Given the description of an element on the screen output the (x, y) to click on. 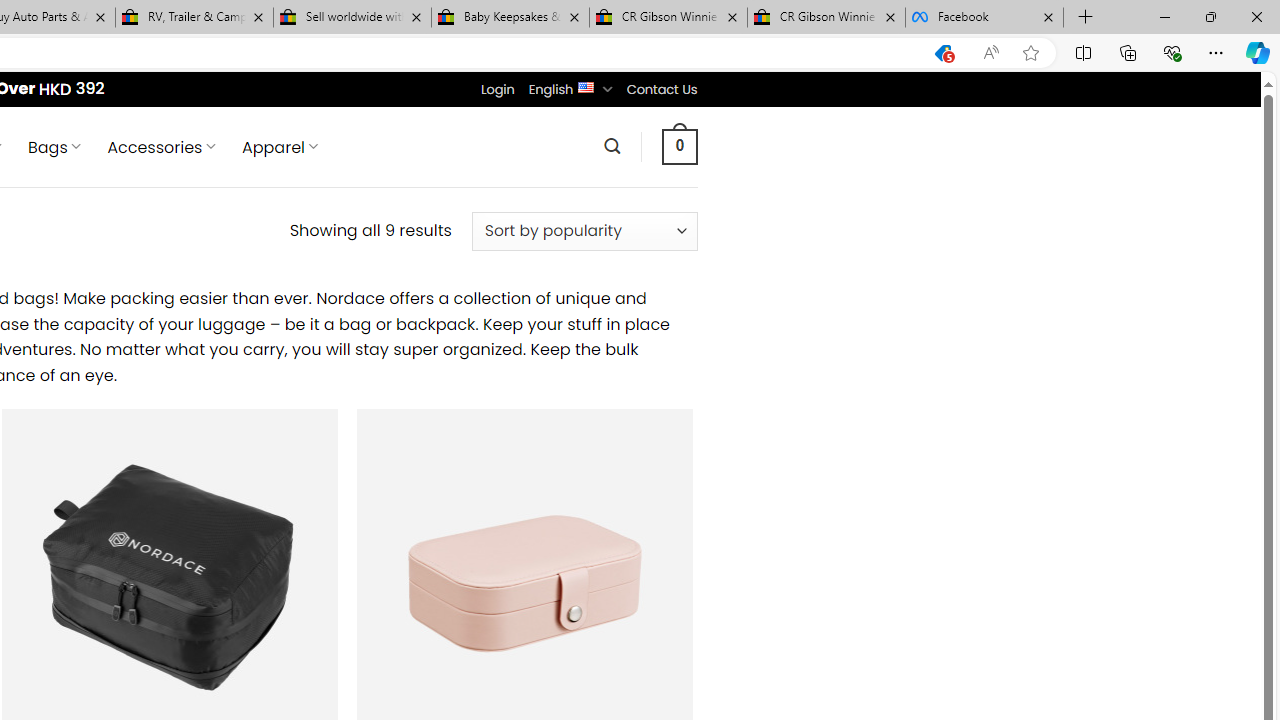
Copilot (Ctrl+Shift+.) (1258, 52)
Facebook (984, 17)
Browser essentials (1171, 52)
